Given the description of an element on the screen output the (x, y) to click on. 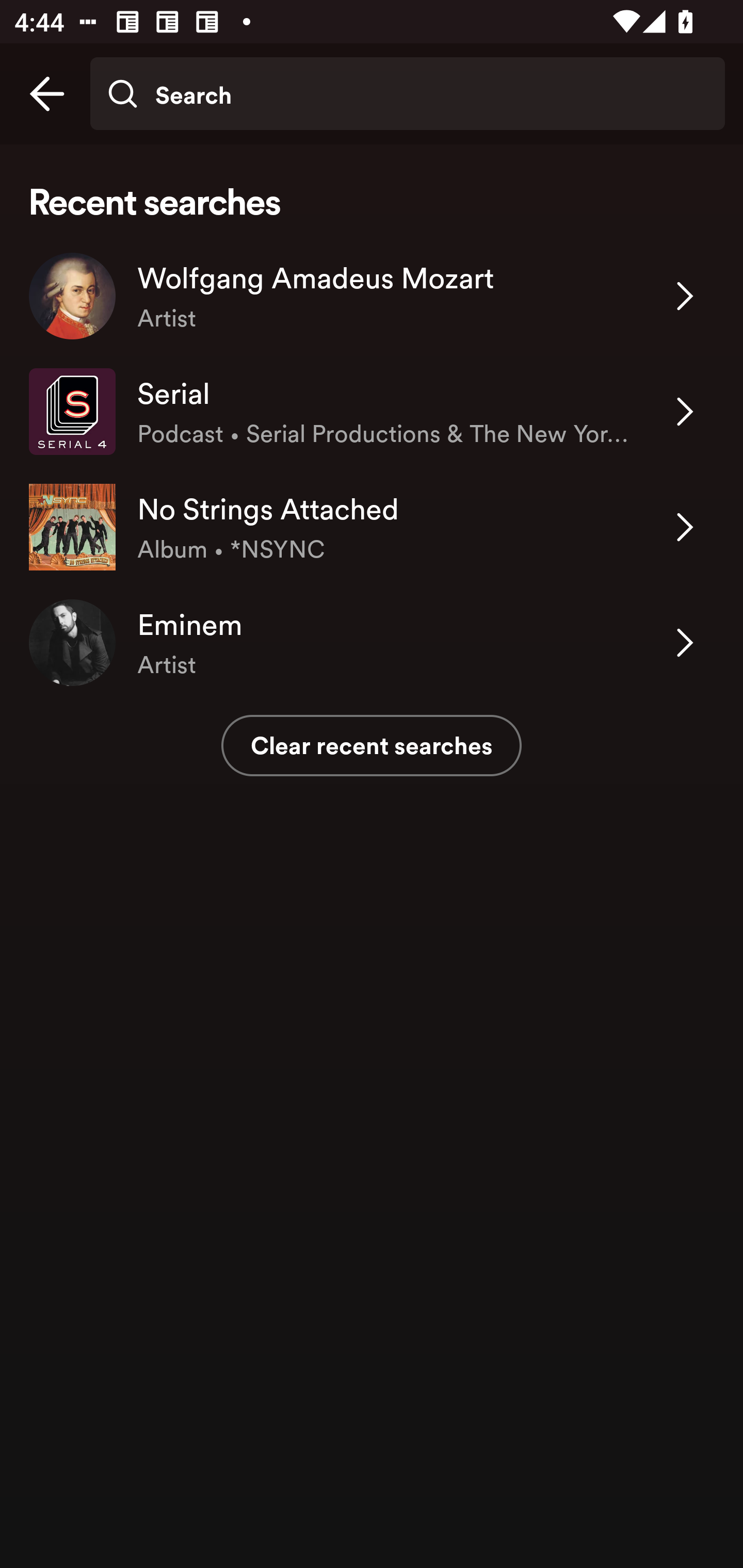
Back (46, 93)
Search (407, 94)
Wolfgang Amadeus Mozart Artist (371, 296)
No Strings Attached Album • *NSYNC (371, 526)
Eminem Artist (371, 642)
Clear recent searches (371, 745)
